Given the description of an element on the screen output the (x, y) to click on. 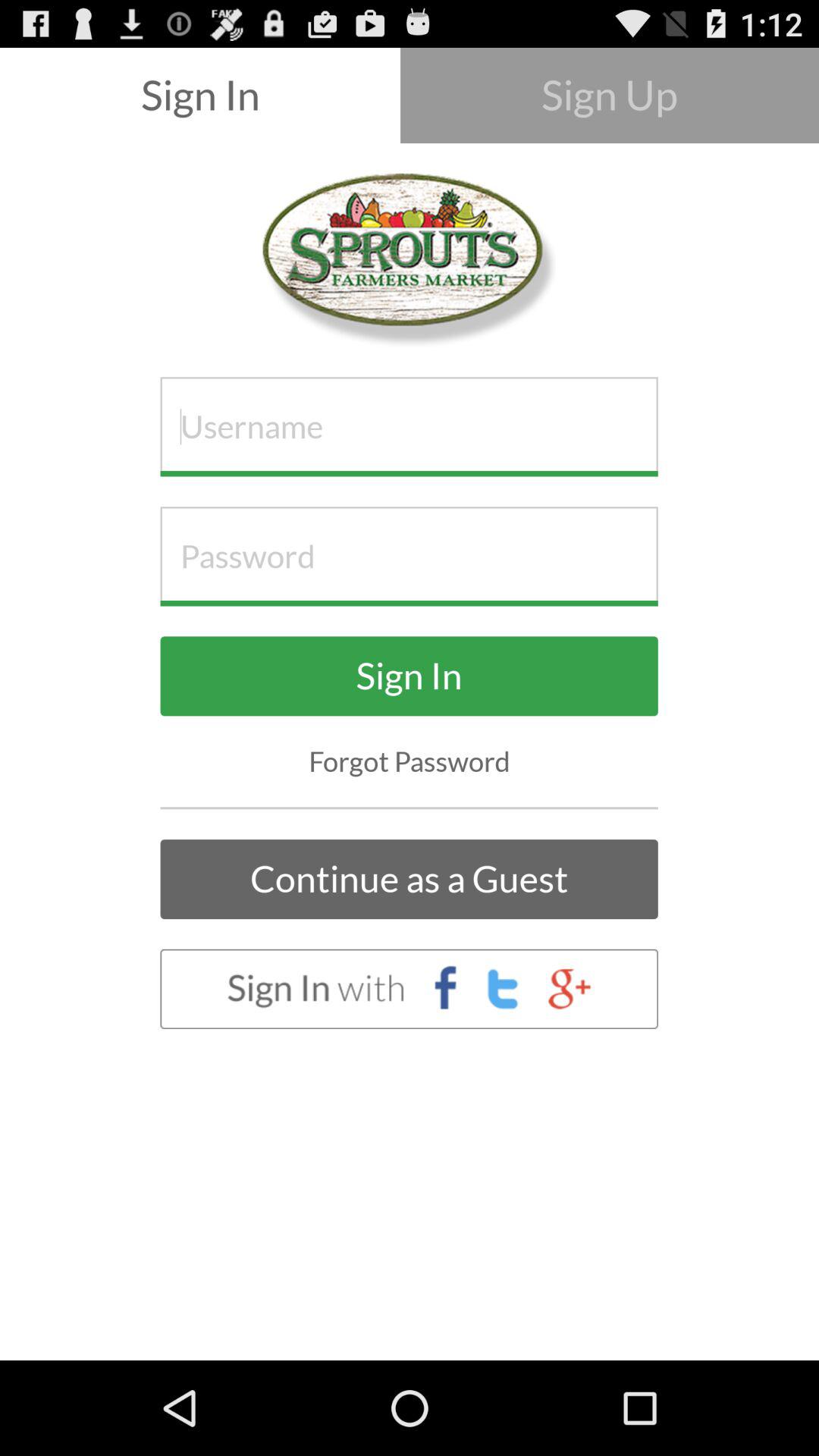
tap the continue as a item (409, 879)
